Given the description of an element on the screen output the (x, y) to click on. 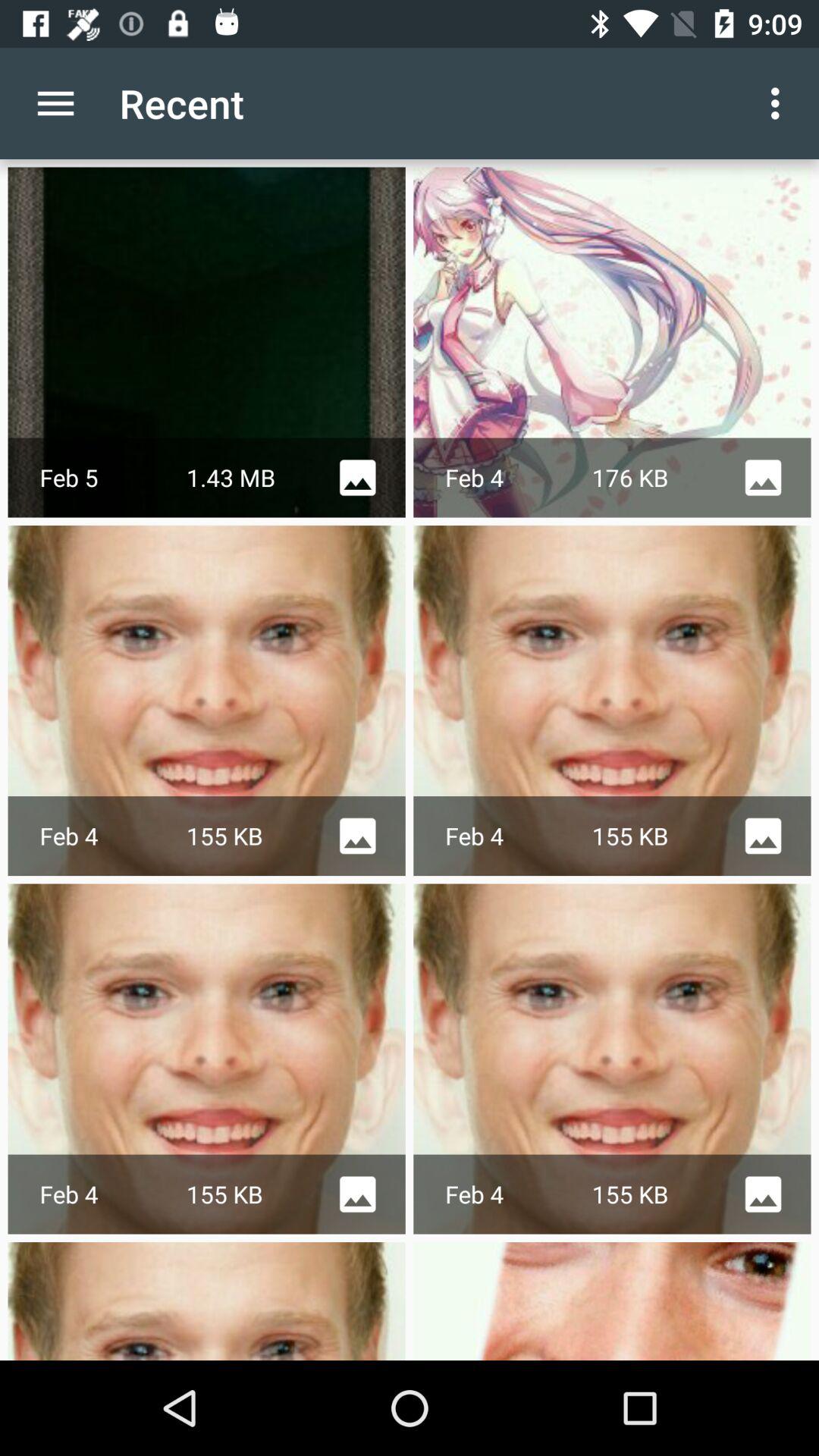
turn off app next to the recent (55, 103)
